Given the description of an element on the screen output the (x, y) to click on. 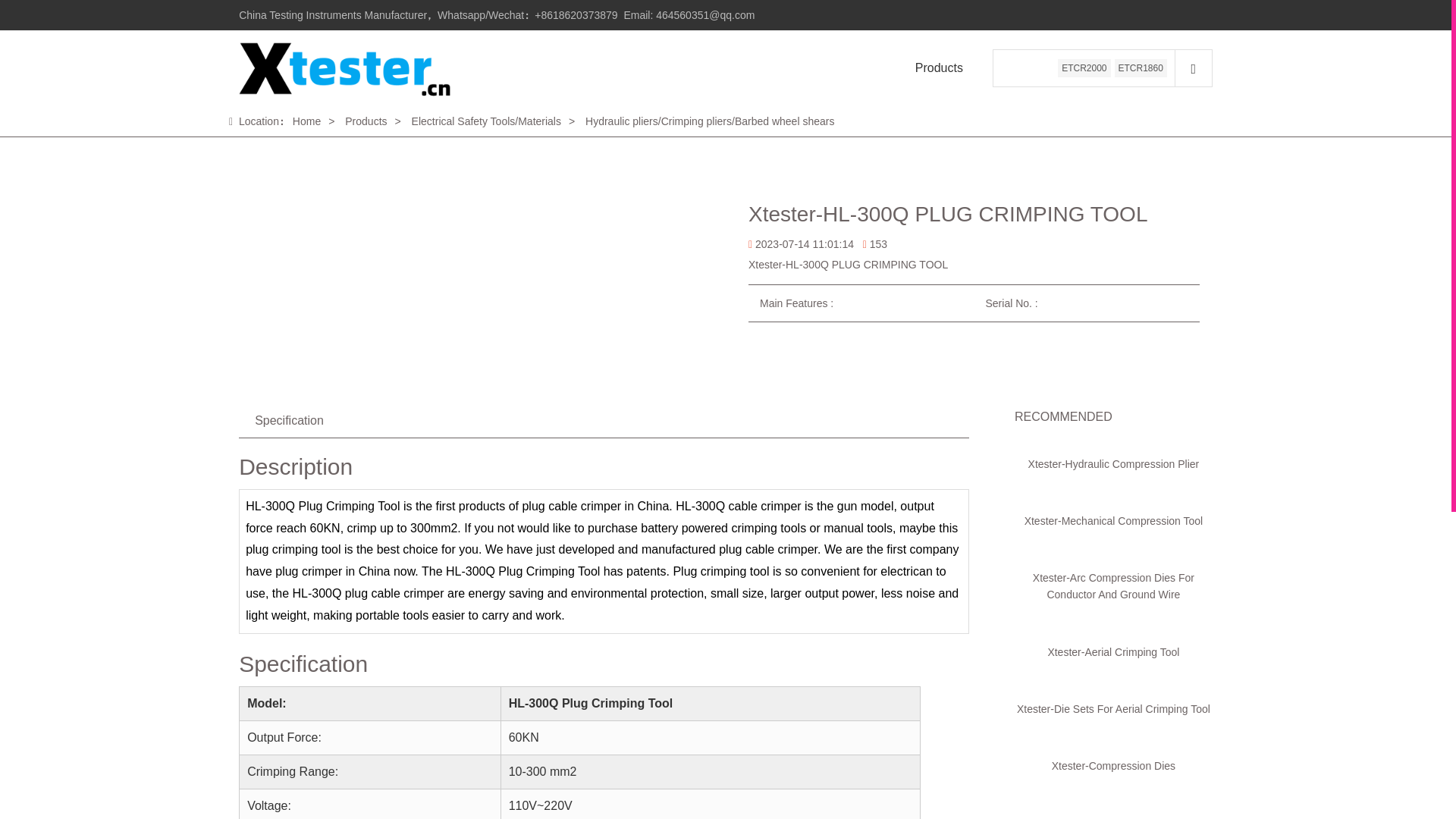
Products (938, 67)
ETCR1860 (1141, 67)
ETCR1860 (1141, 67)
Products (938, 67)
ETCR2000 (1083, 67)
ETCR2000 (1083, 67)
